Given the description of an element on the screen output the (x, y) to click on. 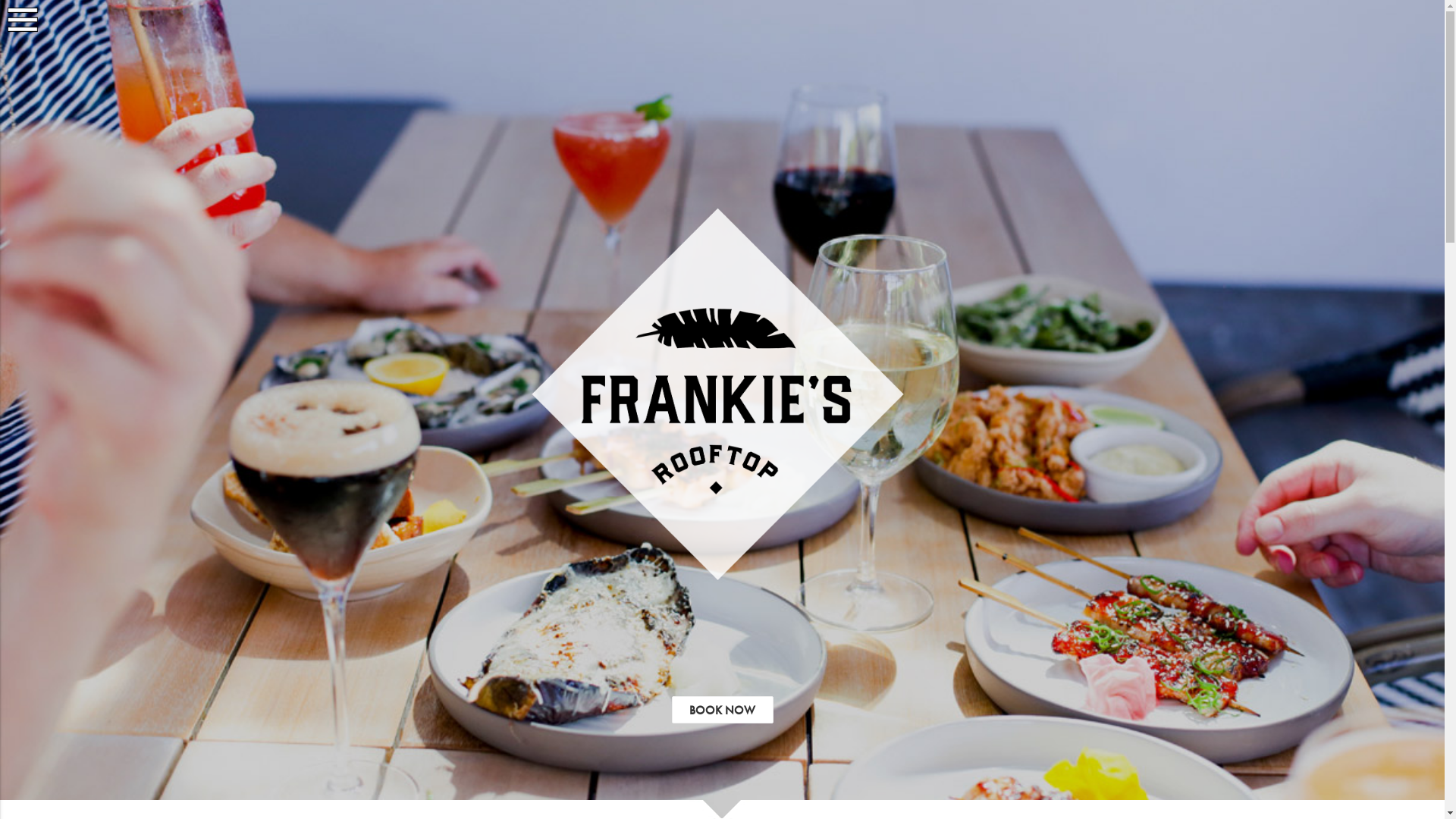
BOOK NOW Element type: text (722, 709)
